Given the description of an element on the screen output the (x, y) to click on. 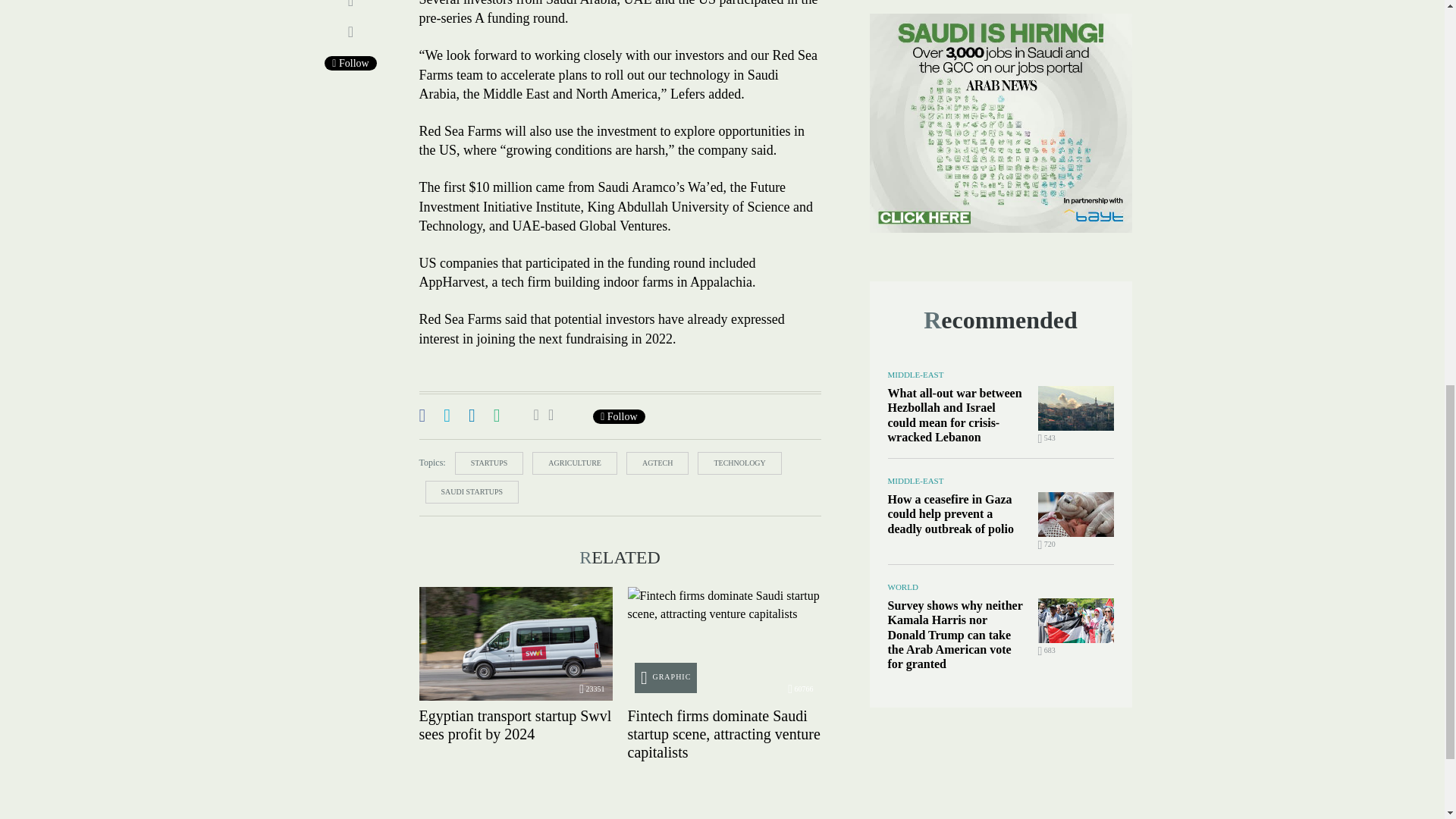
Egyptian transport startup Swvl sees profit by 2024 (515, 644)
